Given the description of an element on the screen output the (x, y) to click on. 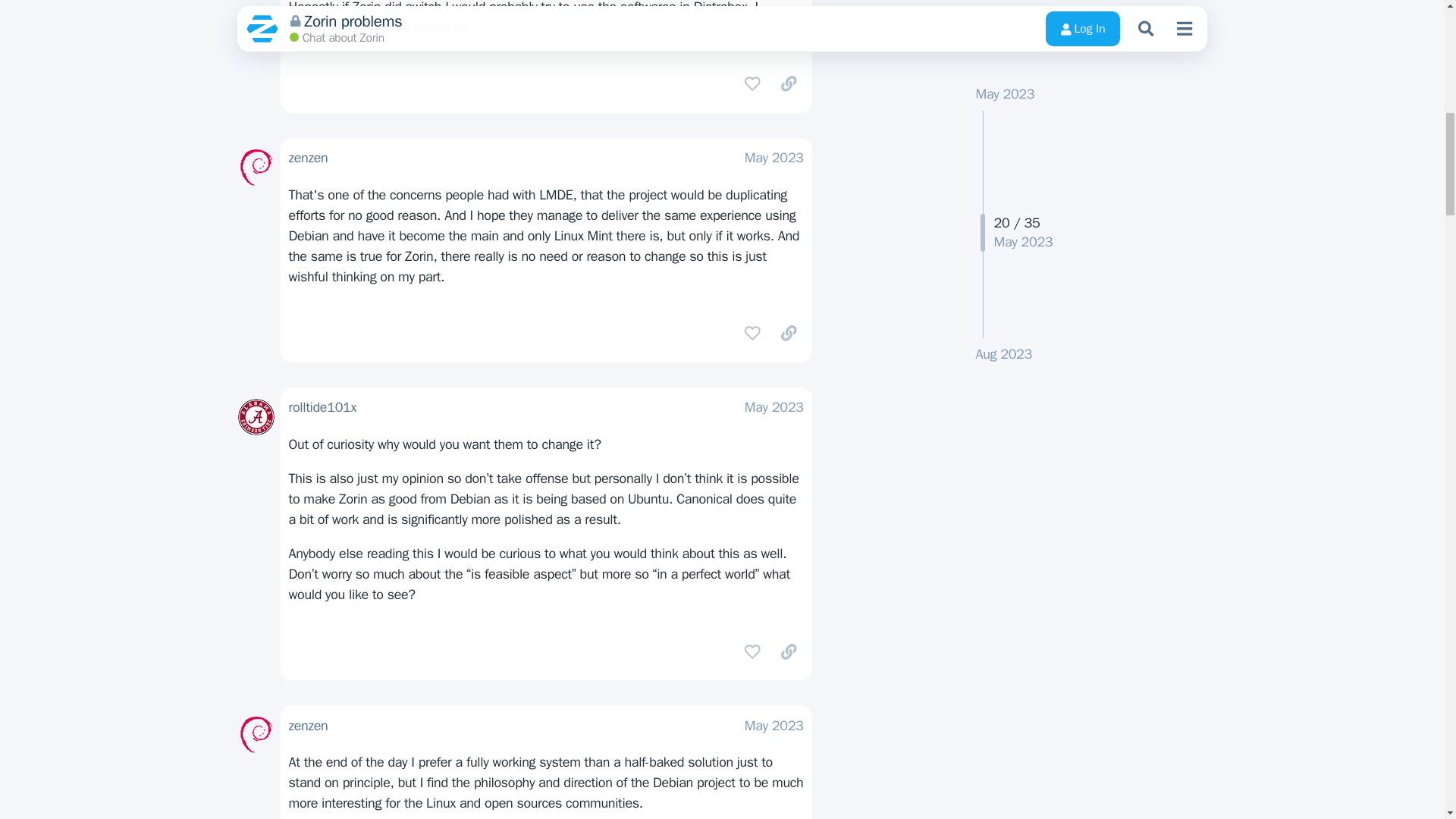
May 2023 (773, 157)
rolltide101x (322, 407)
zenzen (308, 157)
